Given the description of an element on the screen output the (x, y) to click on. 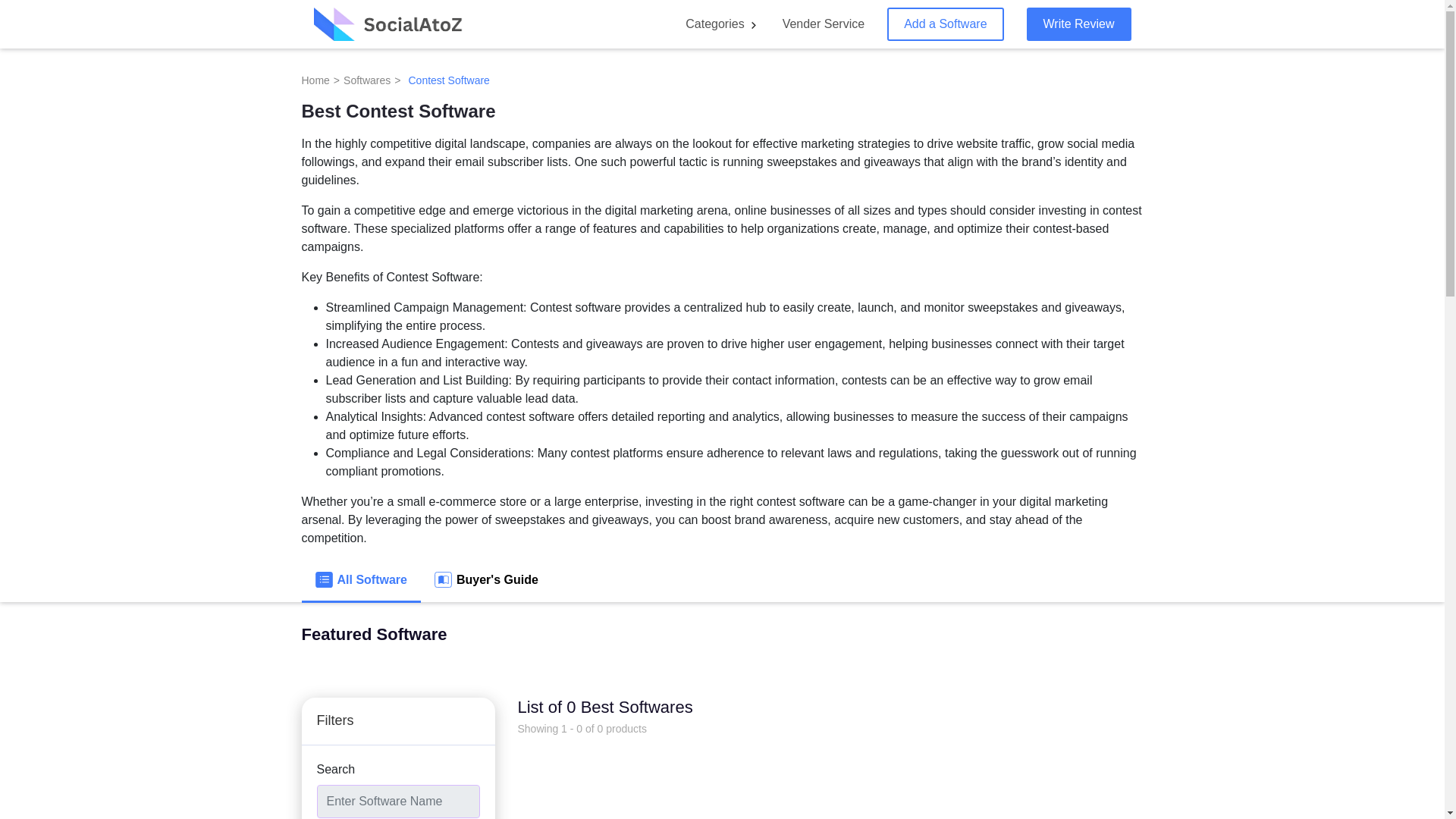
logo (389, 24)
All Software (360, 580)
Buyer's Guide (485, 580)
Home (315, 80)
Contest Software (448, 80)
Add a Software (944, 24)
Write Review (1078, 24)
Softwares (366, 80)
Categories (714, 23)
Vender Service (823, 23)
